Given the description of an element on the screen output the (x, y) to click on. 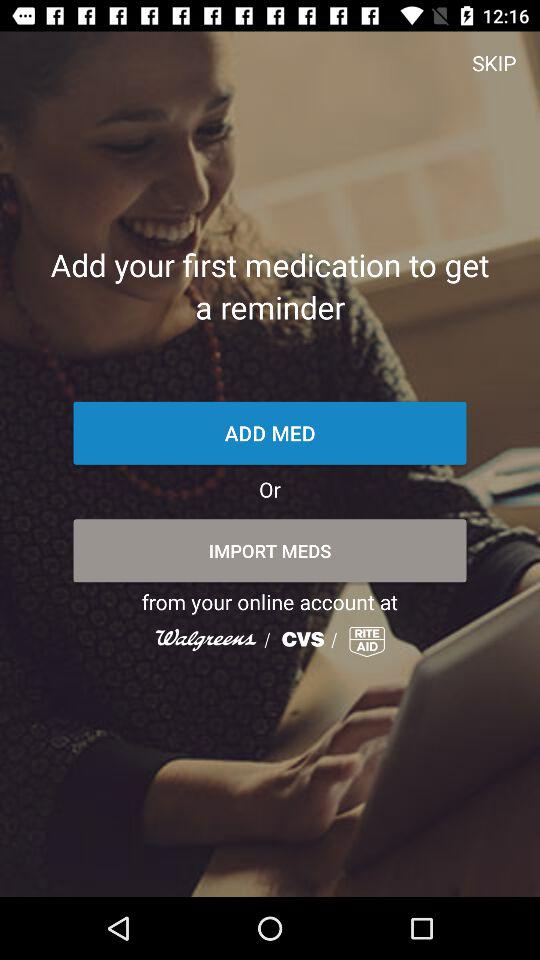
flip to import meds icon (269, 550)
